Given the description of an element on the screen output the (x, y) to click on. 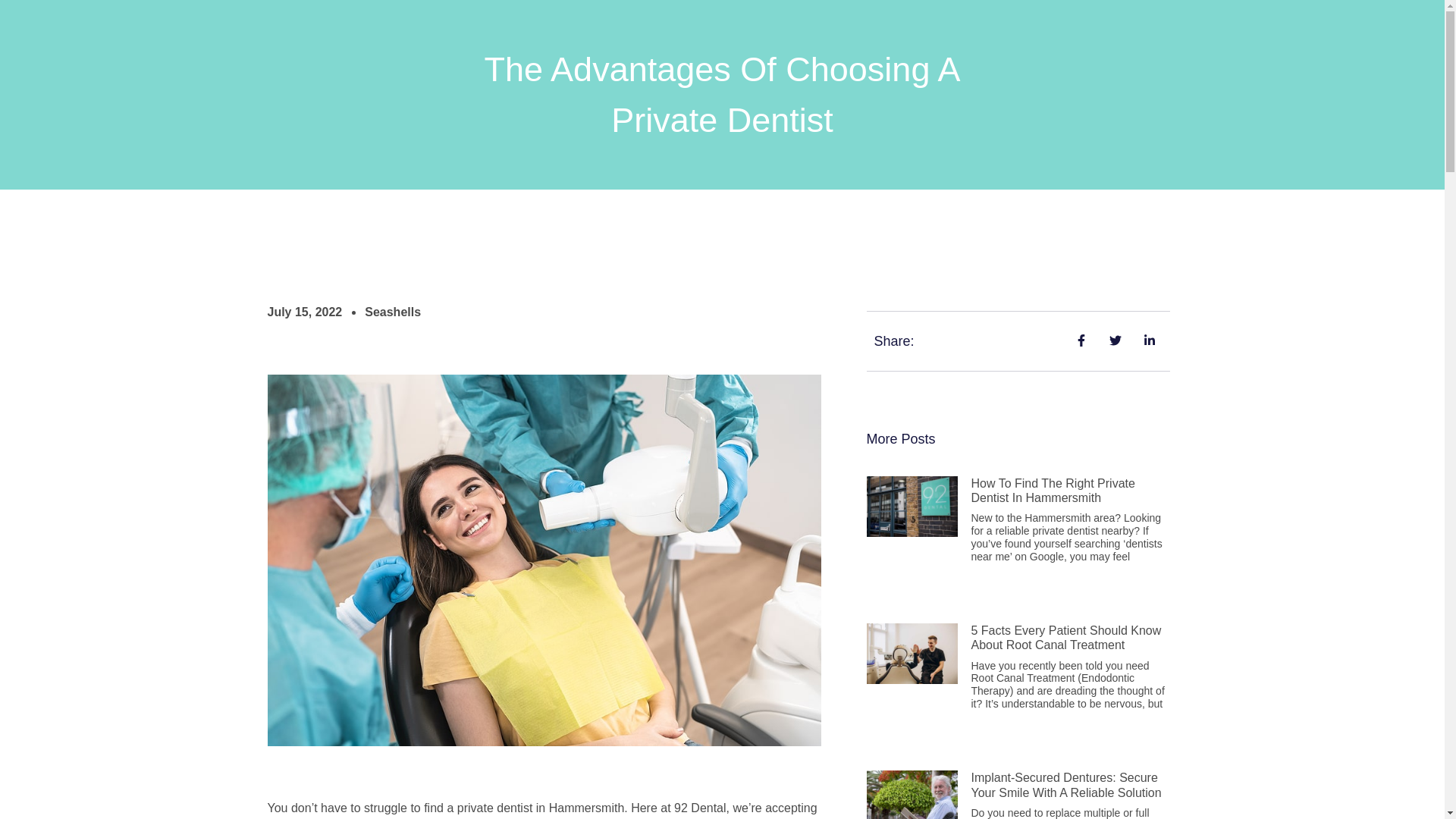
5 Facts Every Patient Should Know About Root Canal Treatment (1065, 637)
How To Find The Right Private Dentist In Hammersmith (1052, 490)
July 15, 2022 (304, 312)
Seashells (392, 312)
